Given the description of an element on the screen output the (x, y) to click on. 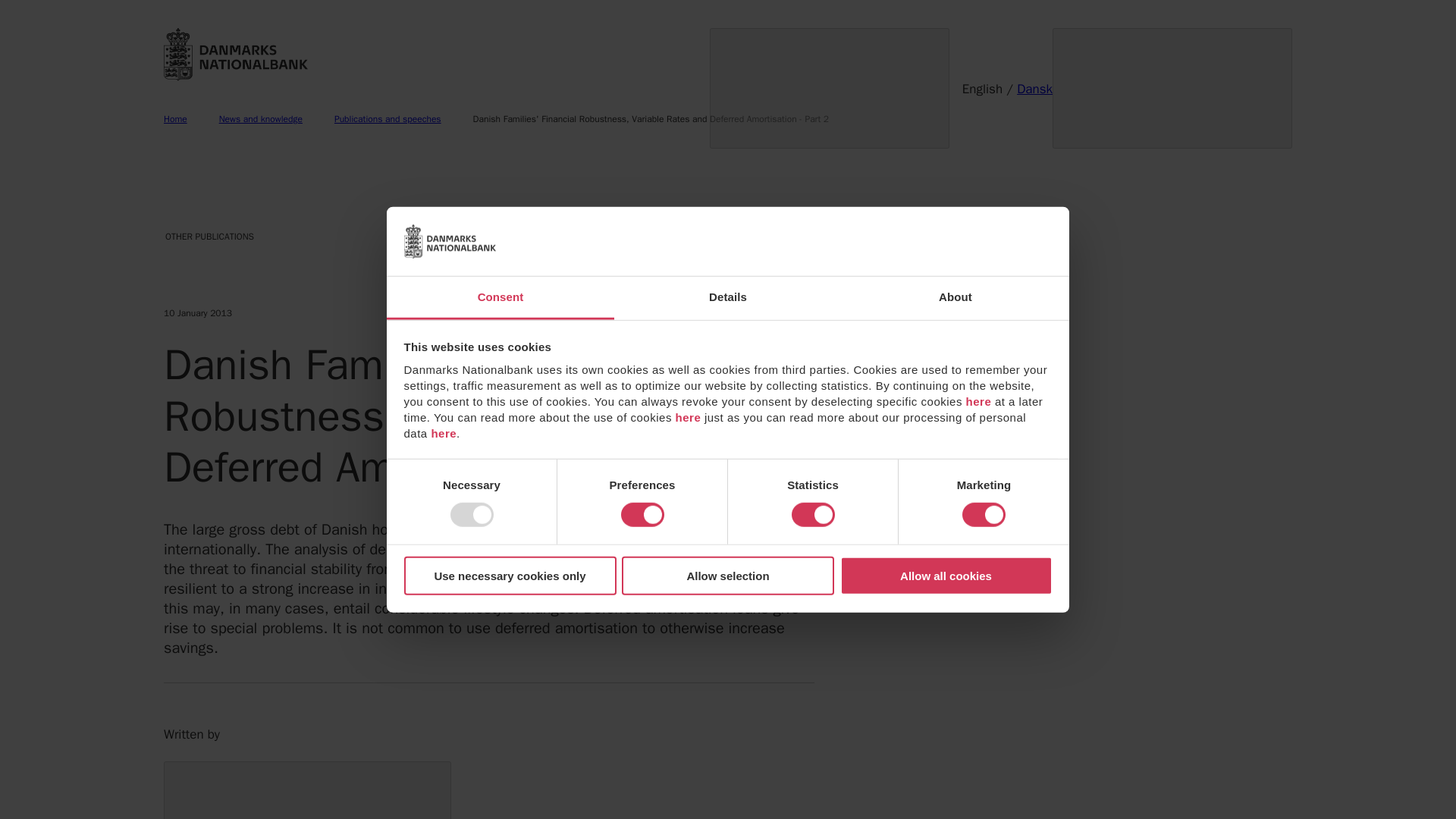
Cookies og Personal Data Policy (443, 432)
Details (727, 298)
Open search (1172, 88)
Allow all cookies (946, 575)
here (443, 432)
OTHER PUBLICATIONS (323, 236)
Allow selection (727, 575)
here (688, 417)
Change your consent (978, 400)
Cookie policy (688, 417)
here (978, 400)
About (954, 298)
Consent (500, 298)
Use necessary cookies only (509, 575)
Open menu (829, 88)
